Given the description of an element on the screen output the (x, y) to click on. 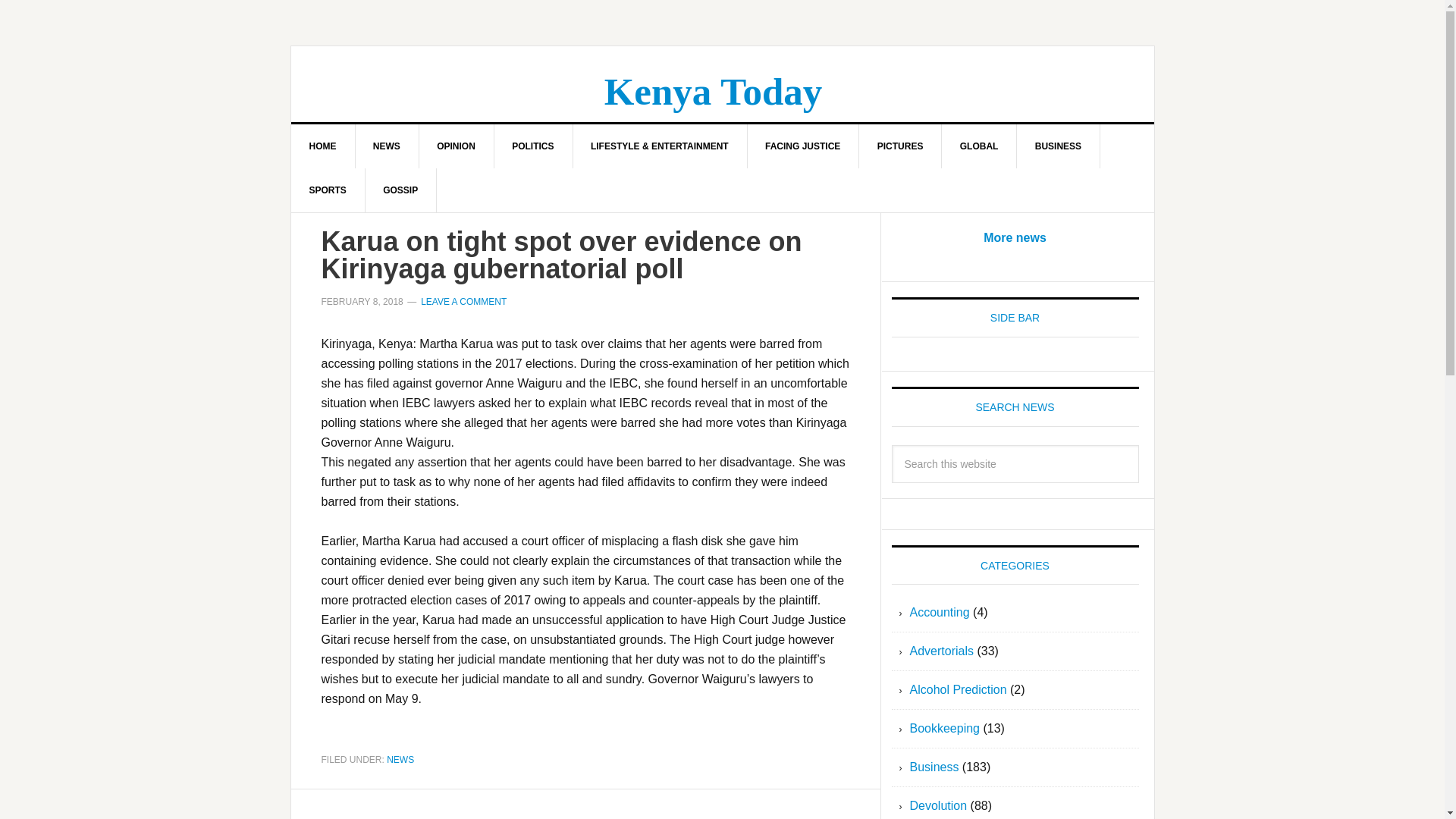
LEAVE A COMMENT (463, 301)
POLITICS (532, 146)
NEWS (387, 146)
More news (1015, 237)
Alcohol Prediction (958, 689)
FACING JUSTICE (802, 146)
Business (934, 766)
NEWS (400, 758)
OPINION (457, 146)
HOME (323, 146)
BUSINESS (1058, 146)
Accounting (939, 612)
Kenya Today (713, 91)
